Given the description of an element on the screen output the (x, y) to click on. 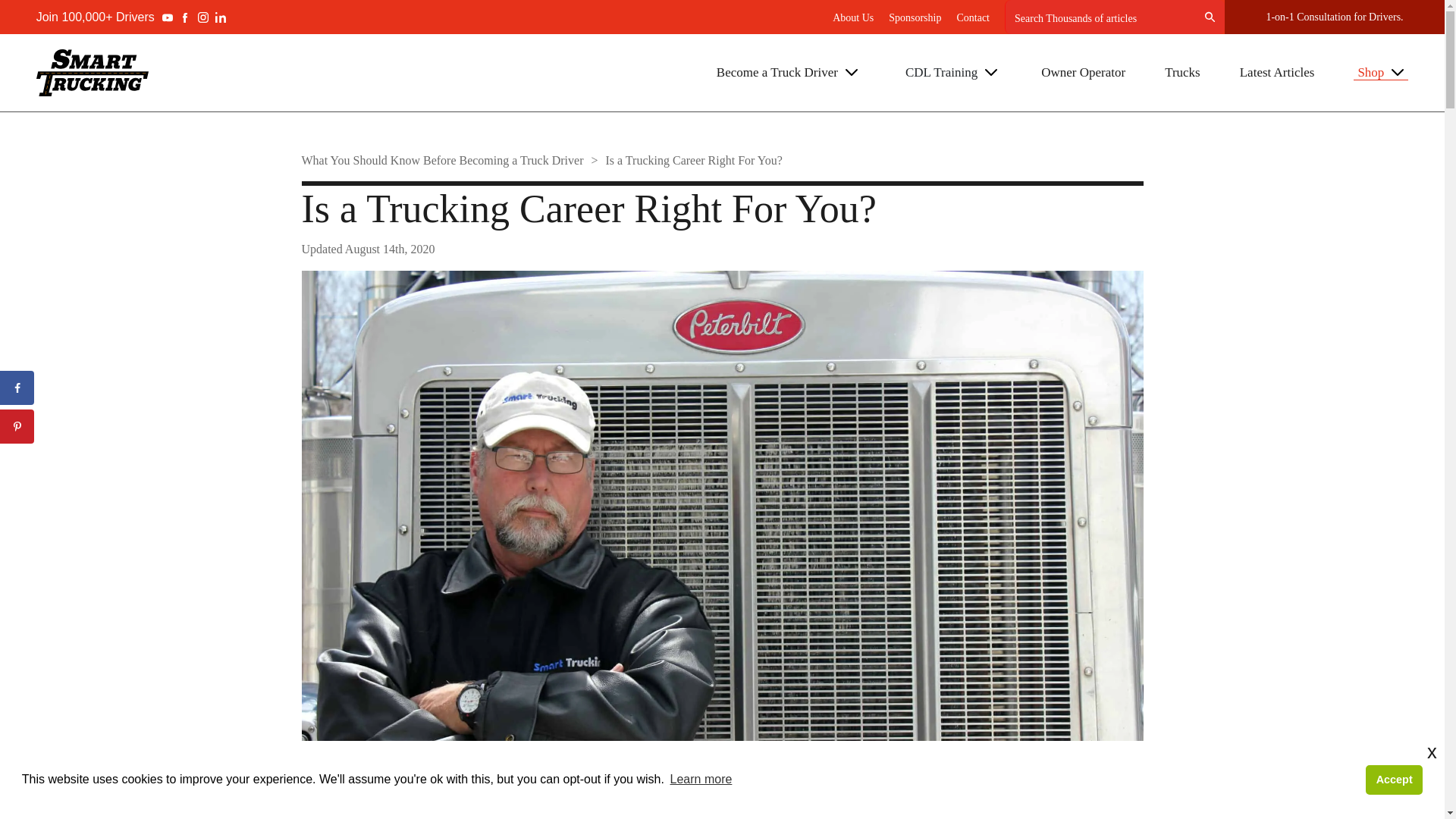
Latest Articles (1277, 72)
Owner Operator (1083, 72)
CDL Training (951, 72)
Trucks (1181, 72)
Become a Truck Driver (787, 72)
Share on Facebook (16, 387)
Save to Pinterest (16, 426)
3rd party ad content (708, 785)
Shop (1380, 72)
About Us (852, 17)
Search for: (1114, 17)
Contact (973, 17)
Sponsorship (914, 17)
